Given the description of an element on the screen output the (x, y) to click on. 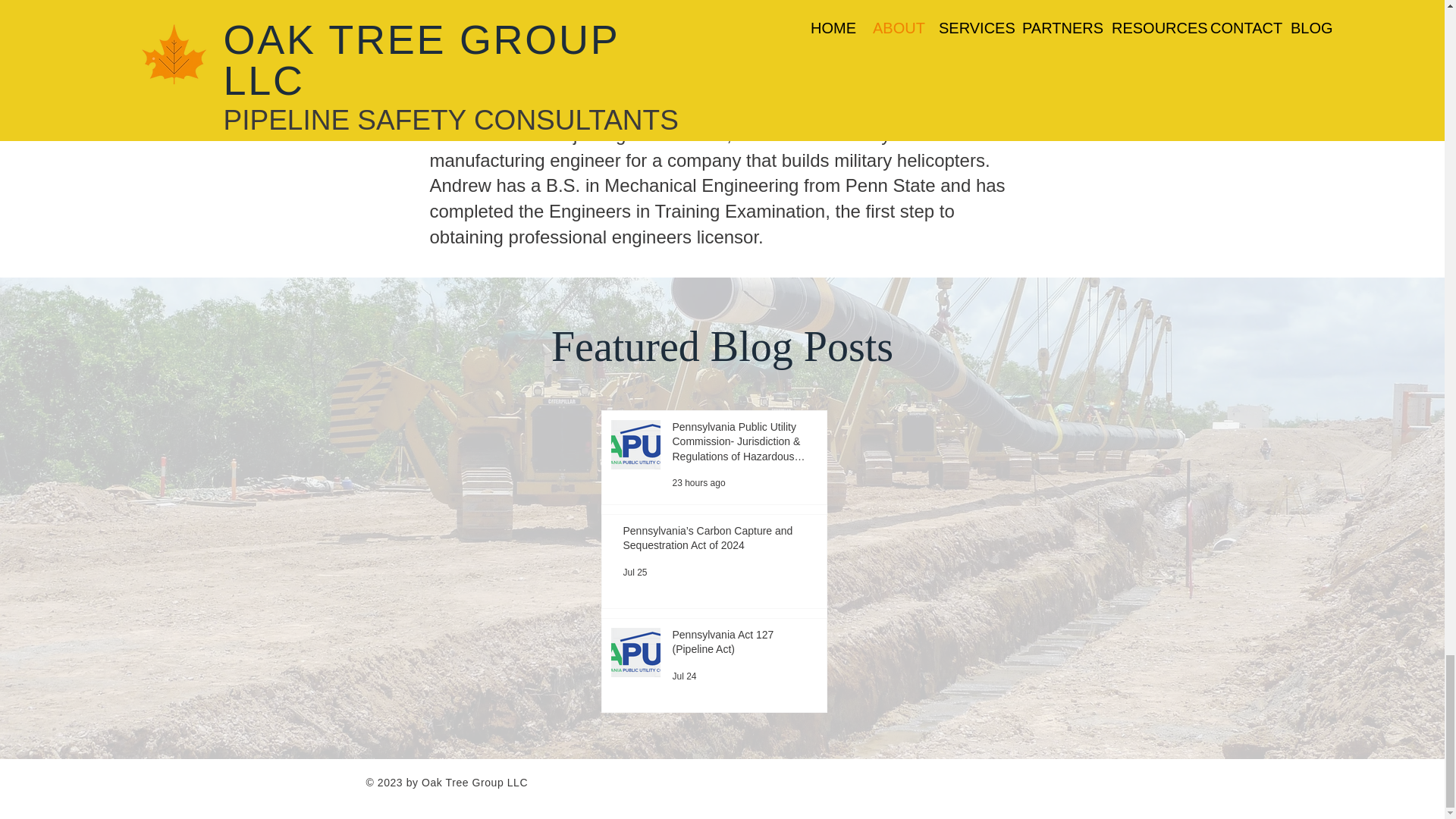
Jul 24 (683, 675)
Jul 25 (635, 572)
23 hours ago (698, 482)
